Given the description of an element on the screen output the (x, y) to click on. 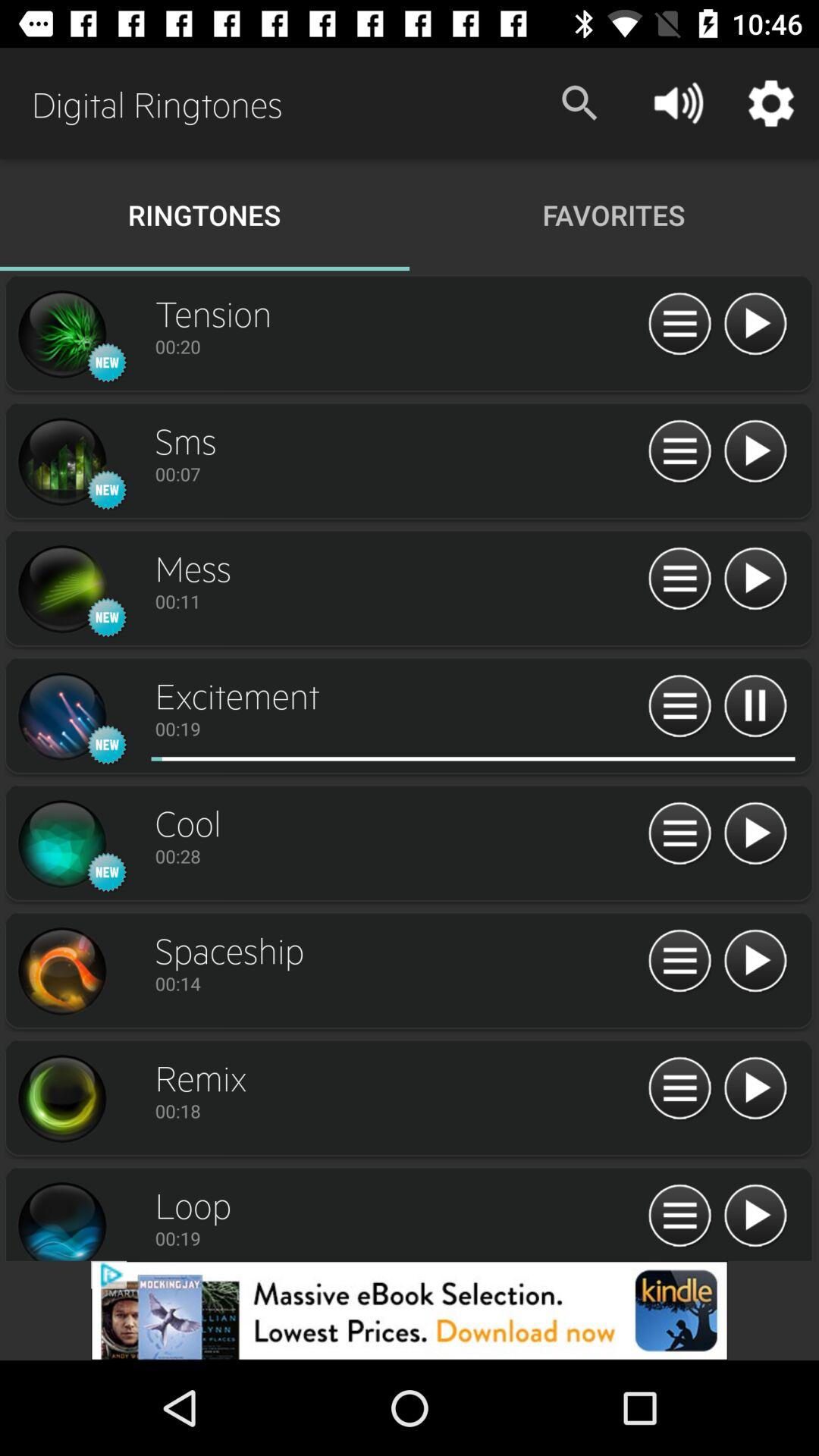
play tension ringtone (61, 334)
